Given the description of an element on the screen output the (x, y) to click on. 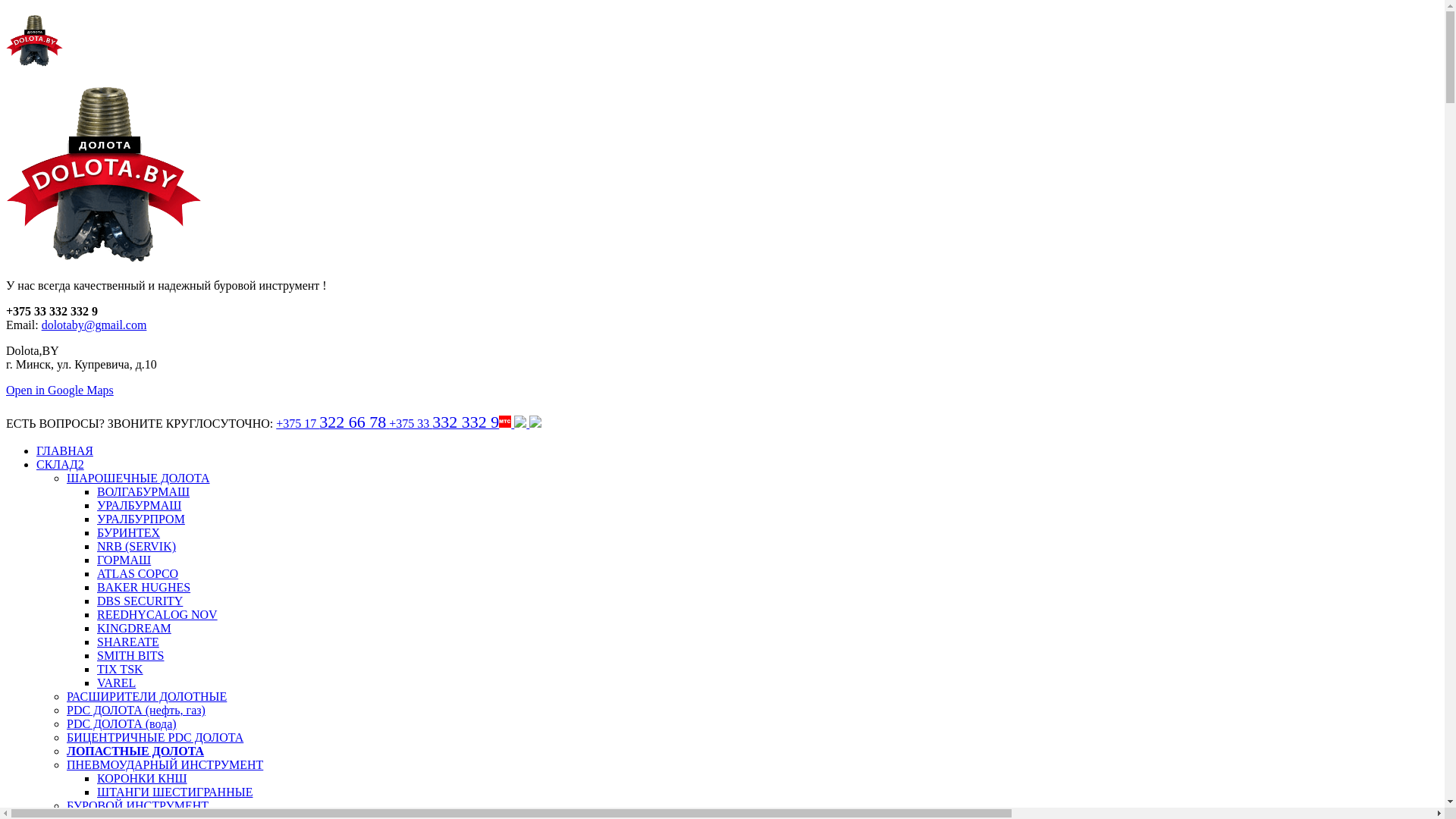
VAREL Element type: text (116, 682)
TIX TSK Element type: text (120, 668)
dolotaby@gmail.com Element type: text (94, 324)
REEDHYCALOG NOV Element type: text (157, 614)
+375 33 332 332 9 Element type: text (465, 423)
SMITH BITS Element type: text (130, 655)
ATLAS COPCO Element type: text (137, 573)
DBS SECURITY Element type: text (139, 600)
BAKER HUGHES Element type: text (143, 586)
KINGDREAM Element type: text (134, 627)
SHAREATE Element type: text (128, 641)
+375 17 322 66 78 Element type: text (332, 423)
Open in Google Maps Element type: text (59, 389)
NRB (SERVIK) Element type: text (136, 545)
